Given the description of an element on the screen output the (x, y) to click on. 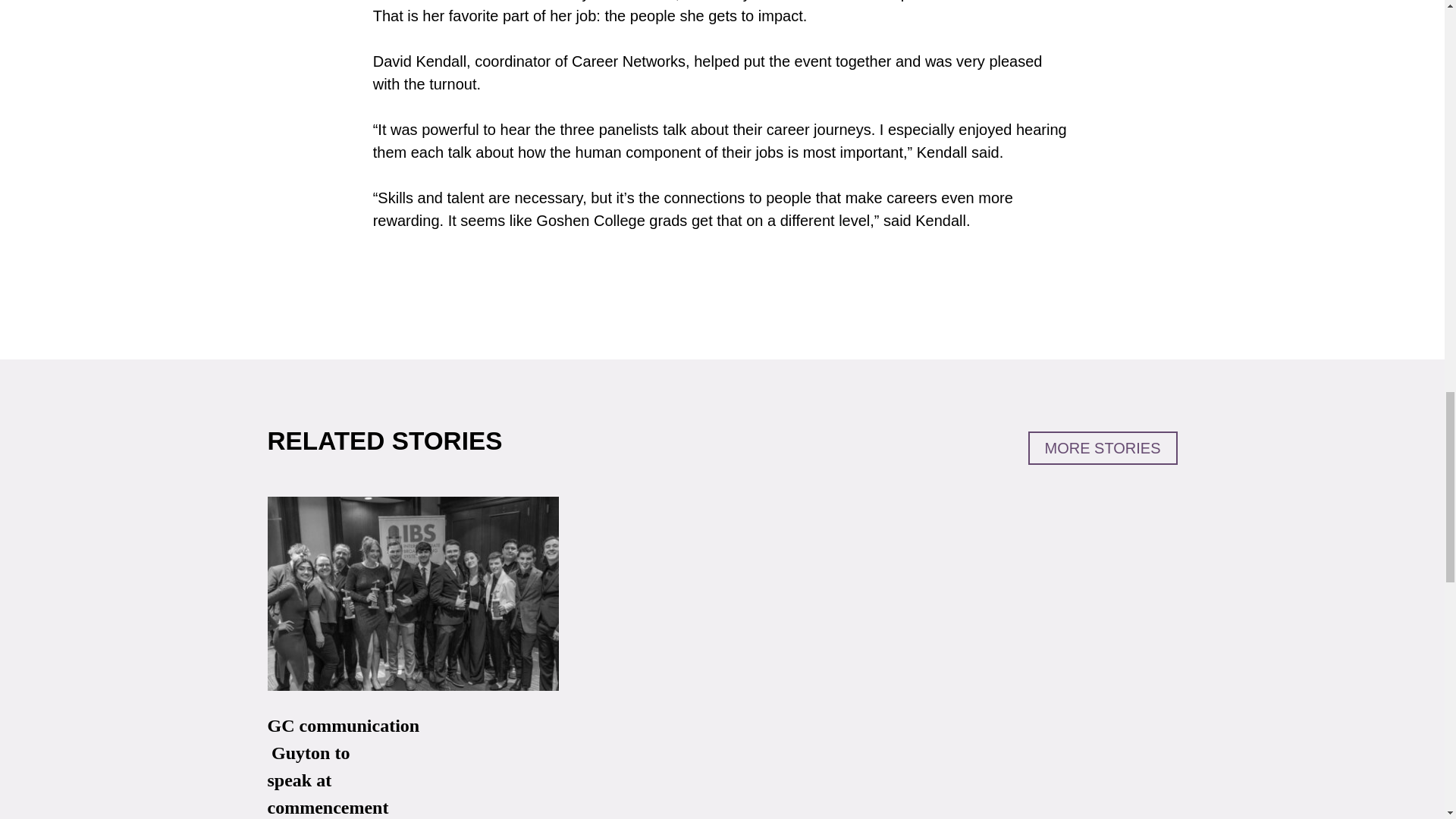
GC communication (342, 725)
Guyton to speak at commencement (327, 779)
MORE STORIES (1102, 448)
